Given the description of an element on the screen output the (x, y) to click on. 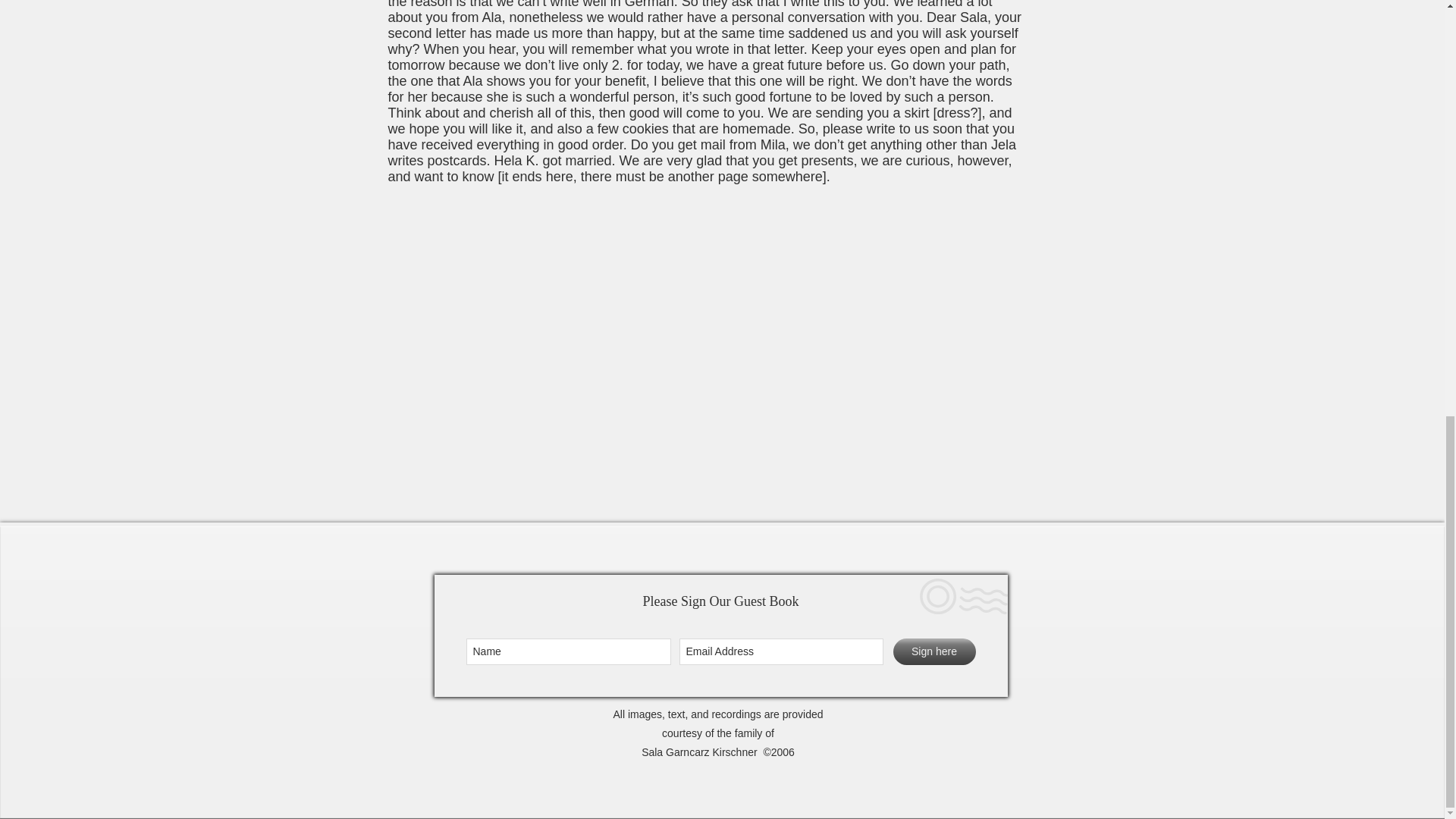
Sign here (934, 651)
